Given the description of an element on the screen output the (x, y) to click on. 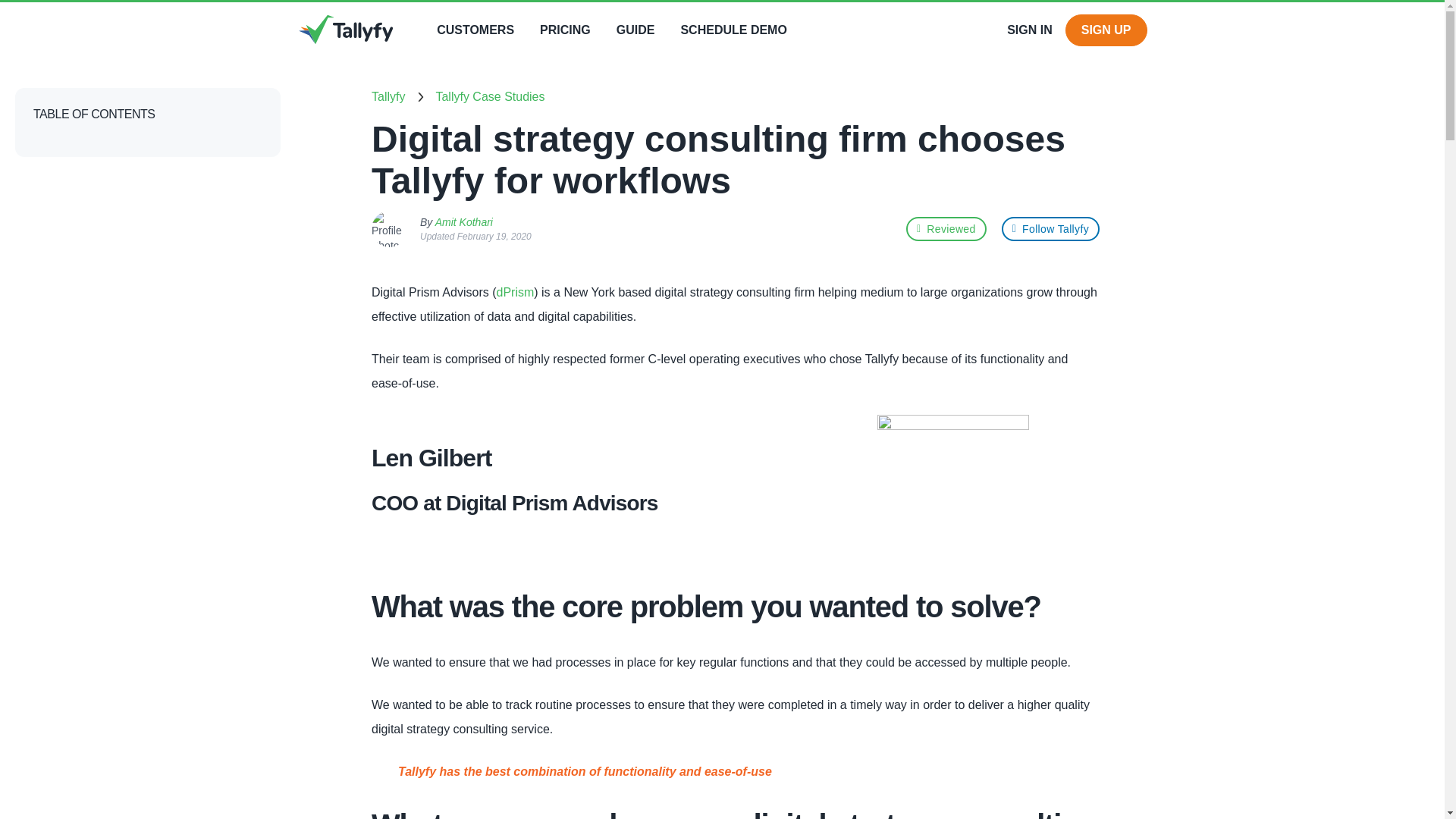
Post By Amit Kothari (389, 228)
Amit Kothari (464, 223)
Tallyfy  (387, 97)
Follow Tallyfy (1050, 228)
Book a call with us (732, 29)
Tallyfy (946, 228)
Customer testimonials (475, 29)
GUIDE (636, 29)
CUSTOMERS (475, 29)
SIGN UP (1106, 29)
